Given the description of an element on the screen output the (x, y) to click on. 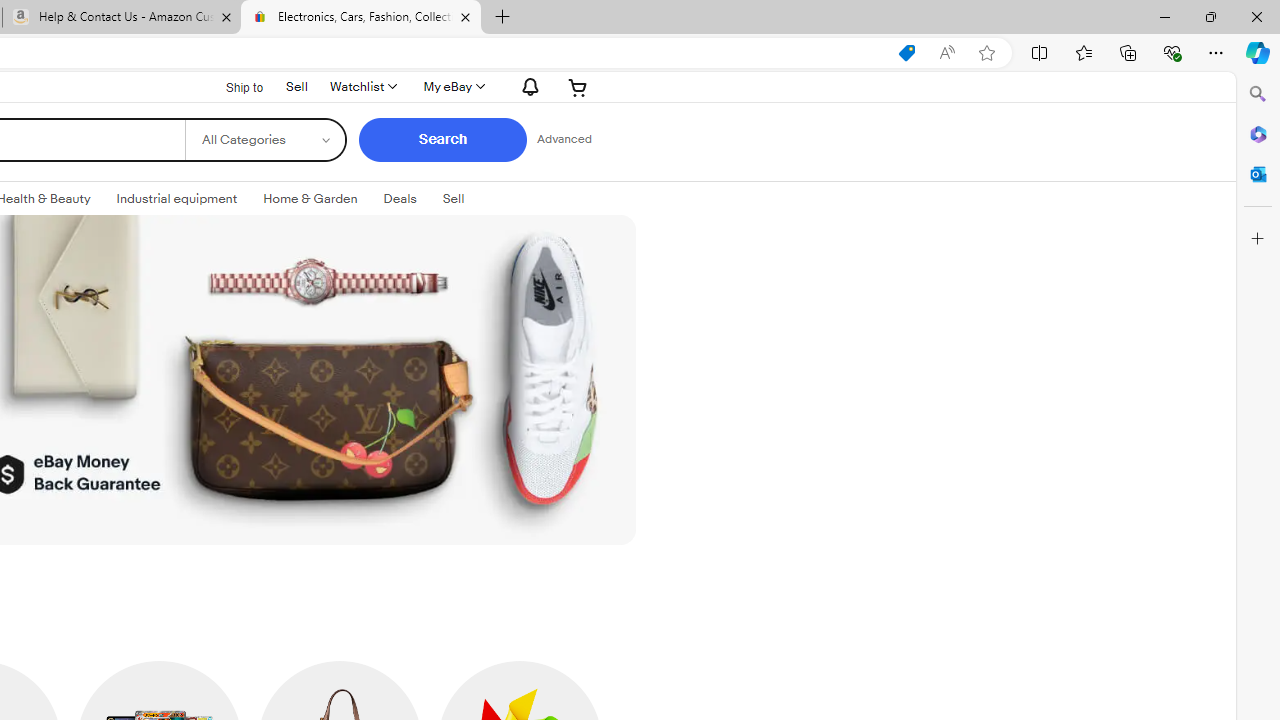
My eBay (453, 86)
Industrial equipment (177, 198)
Home & GardenExpand: Home & Garden (310, 199)
Expand Cart (578, 86)
Deals (399, 198)
WatchlistExpand Watch List (362, 86)
